Given the description of an element on the screen output the (x, y) to click on. 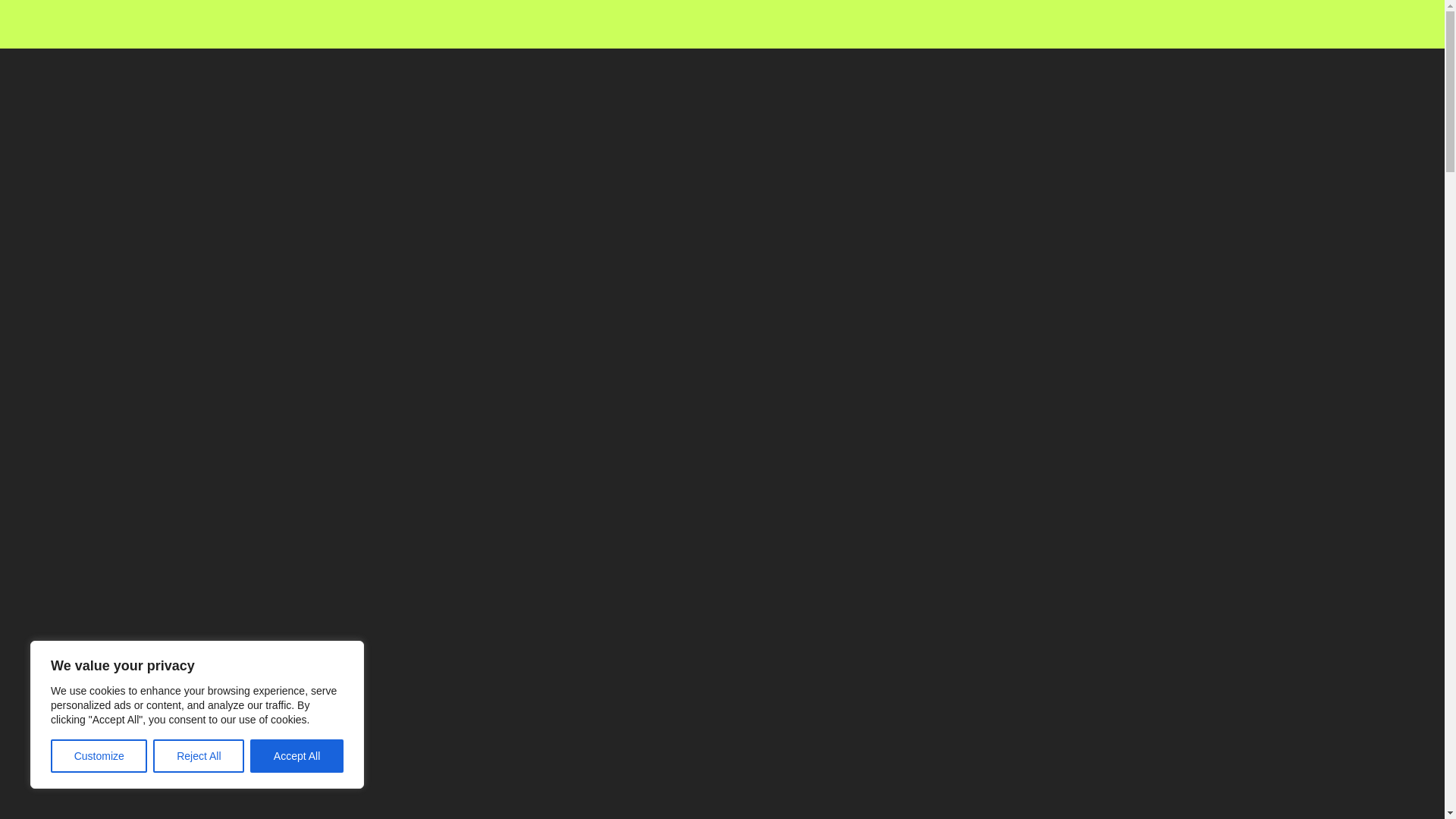
Reject All (198, 756)
Customize (98, 756)
Accept All (296, 756)
